Given the description of an element on the screen output the (x, y) to click on. 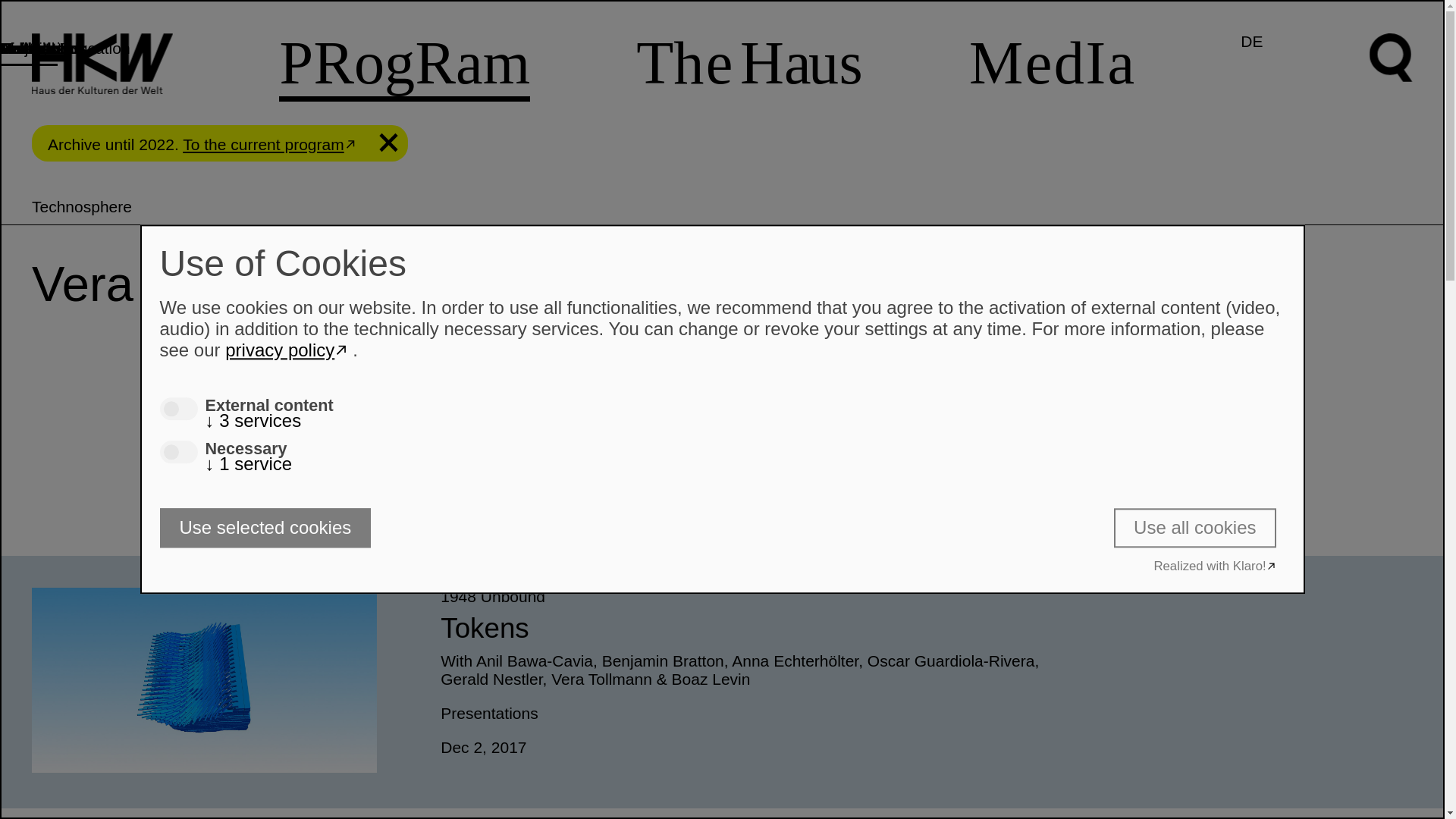
DE (1251, 40)
Mediathek (37, 47)
Contributors (42, 47)
Technosphere (722, 206)
Calendar (32, 47)
About us (31, 47)
To the current program (271, 144)
MedIa (1051, 62)
Publications (42, 47)
Visit (14, 47)
